Given the description of an element on the screen output the (x, y) to click on. 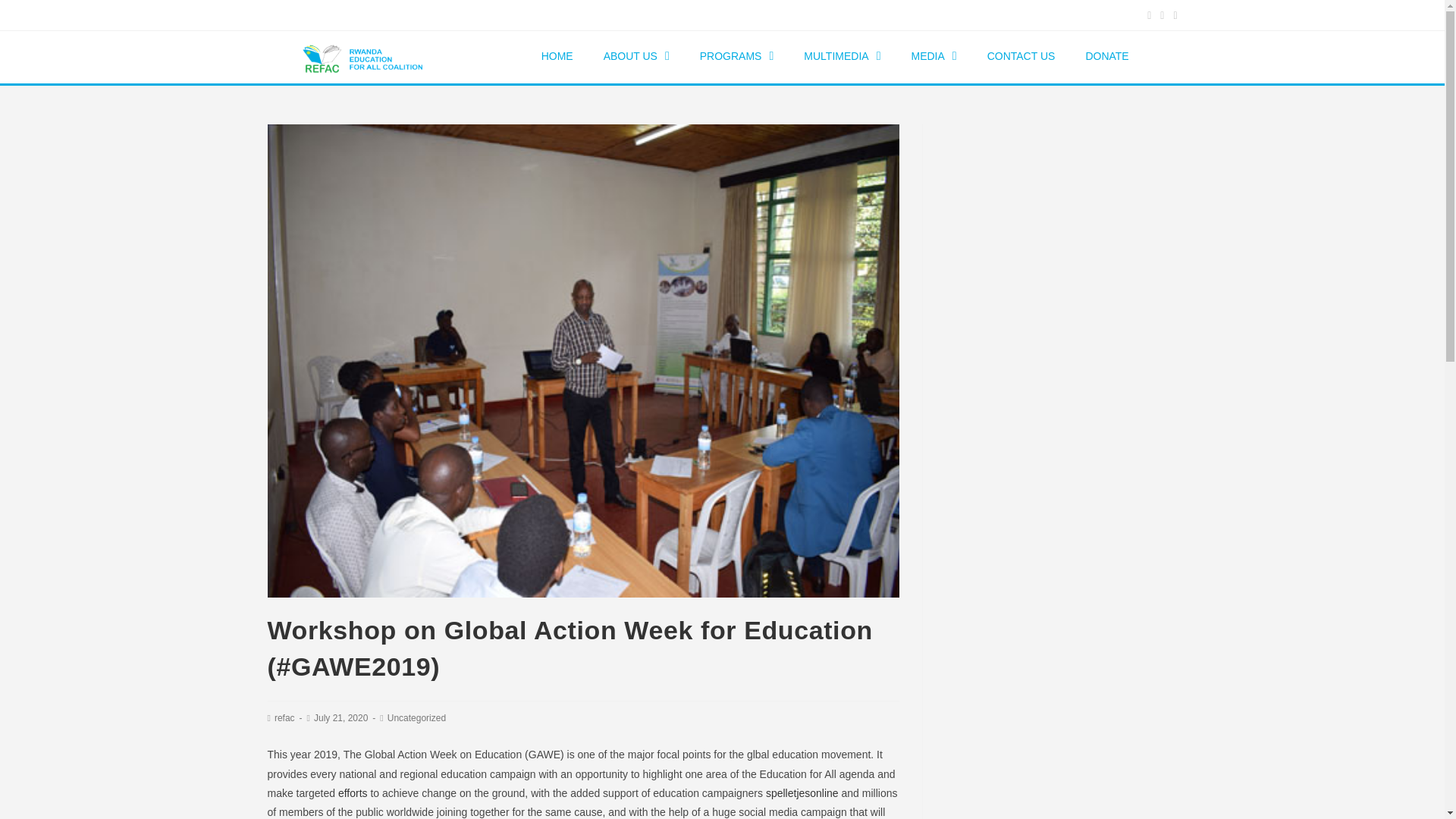
DONATE (1106, 55)
MEDIA (933, 55)
HOME (556, 55)
ABOUT US (636, 55)
Posts by refac (285, 717)
PROGRAMS (736, 55)
CONTACT US (1021, 55)
MULTIMEDIA (842, 55)
